Given the description of an element on the screen output the (x, y) to click on. 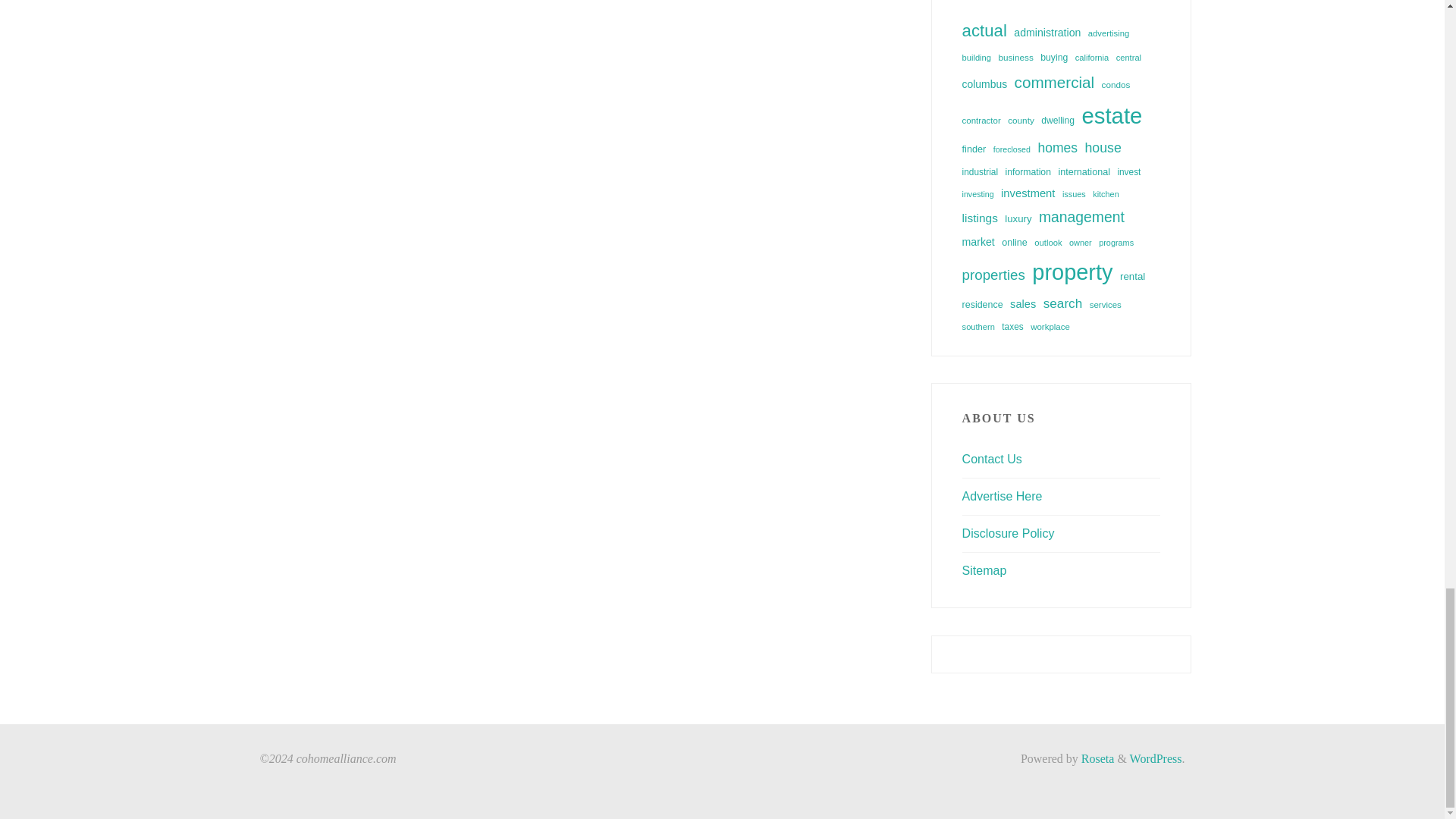
Semantic Personal Publishing Platform (1155, 758)
Roseta WordPress Theme by Cryout Creations (1096, 758)
